Given the description of an element on the screen output the (x, y) to click on. 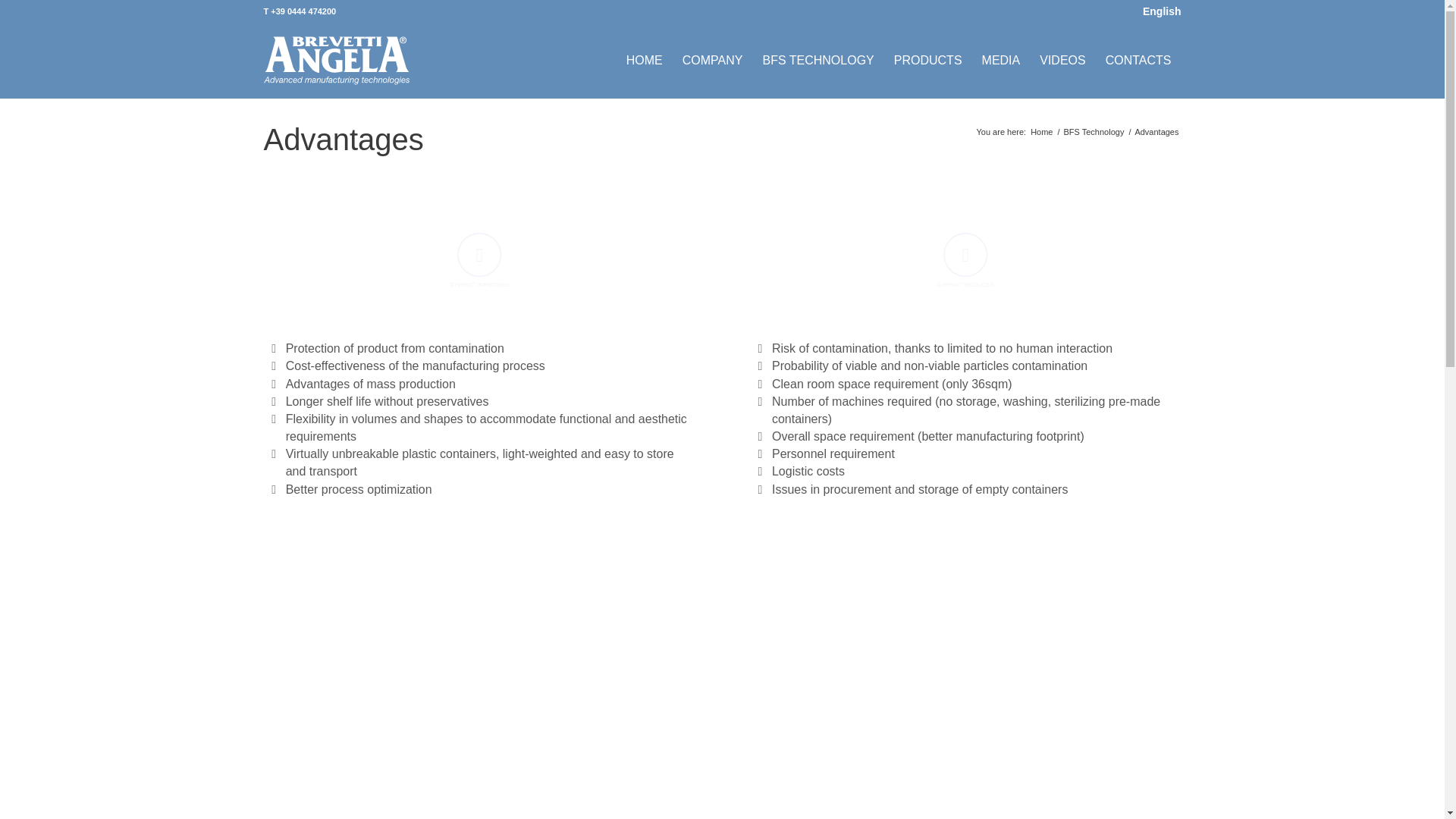
BFS TECHNOLOGY (817, 60)
HOME (643, 60)
COMPANY (712, 60)
Brevetti Angela (1040, 132)
MEDIA (1001, 60)
BFS Technology (1093, 132)
English (1160, 11)
English (1160, 11)
PRODUCTS (927, 60)
Permanent Link: Advantages (343, 139)
